Given the description of an element on the screen output the (x, y) to click on. 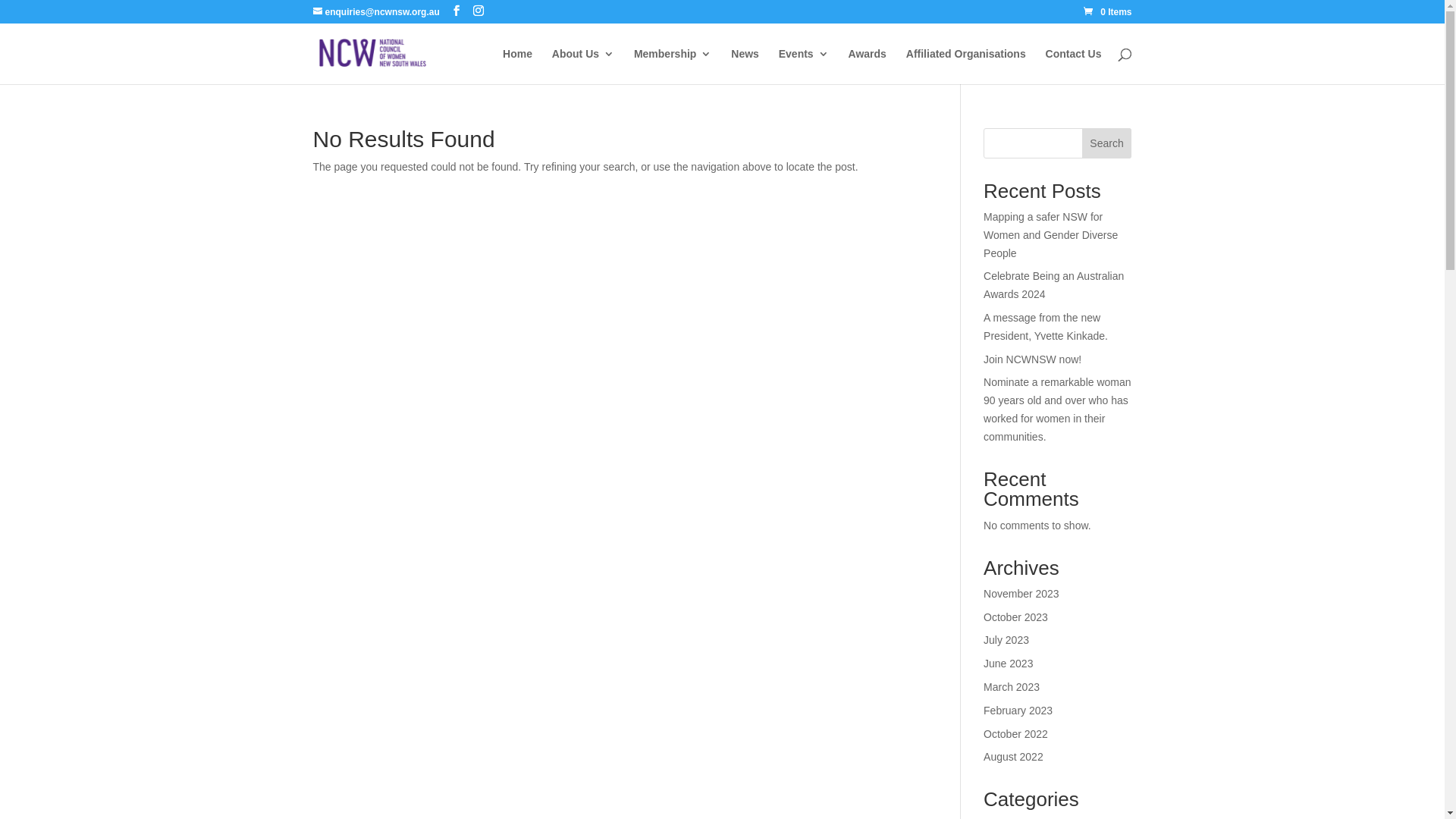
March 2023 Element type: text (1011, 686)
A message from the new President, Yvette Kinkade. Element type: text (1045, 326)
Search Element type: text (1107, 143)
Home Element type: text (517, 66)
July 2023 Element type: text (1006, 639)
Join NCWNSW now! Element type: text (1032, 359)
Contact Us Element type: text (1073, 66)
February 2023 Element type: text (1017, 710)
0 Items Element type: text (1107, 11)
October 2023 Element type: text (1015, 617)
Mapping a safer NSW for Women and Gender Diverse People Element type: text (1050, 234)
News Element type: text (745, 66)
Events Element type: text (803, 66)
Membership Element type: text (672, 66)
November 2023 Element type: text (1021, 593)
Celebrate Being an Australian Awards 2024 Element type: text (1053, 284)
August 2022 Element type: text (1013, 756)
June 2023 Element type: text (1007, 663)
About Us Element type: text (583, 66)
Awards Element type: text (867, 66)
Affiliated Organisations Element type: text (966, 66)
enquiries@ncwnsw.org.au Element type: text (375, 11)
October 2022 Element type: text (1015, 734)
